Given the description of an element on the screen output the (x, y) to click on. 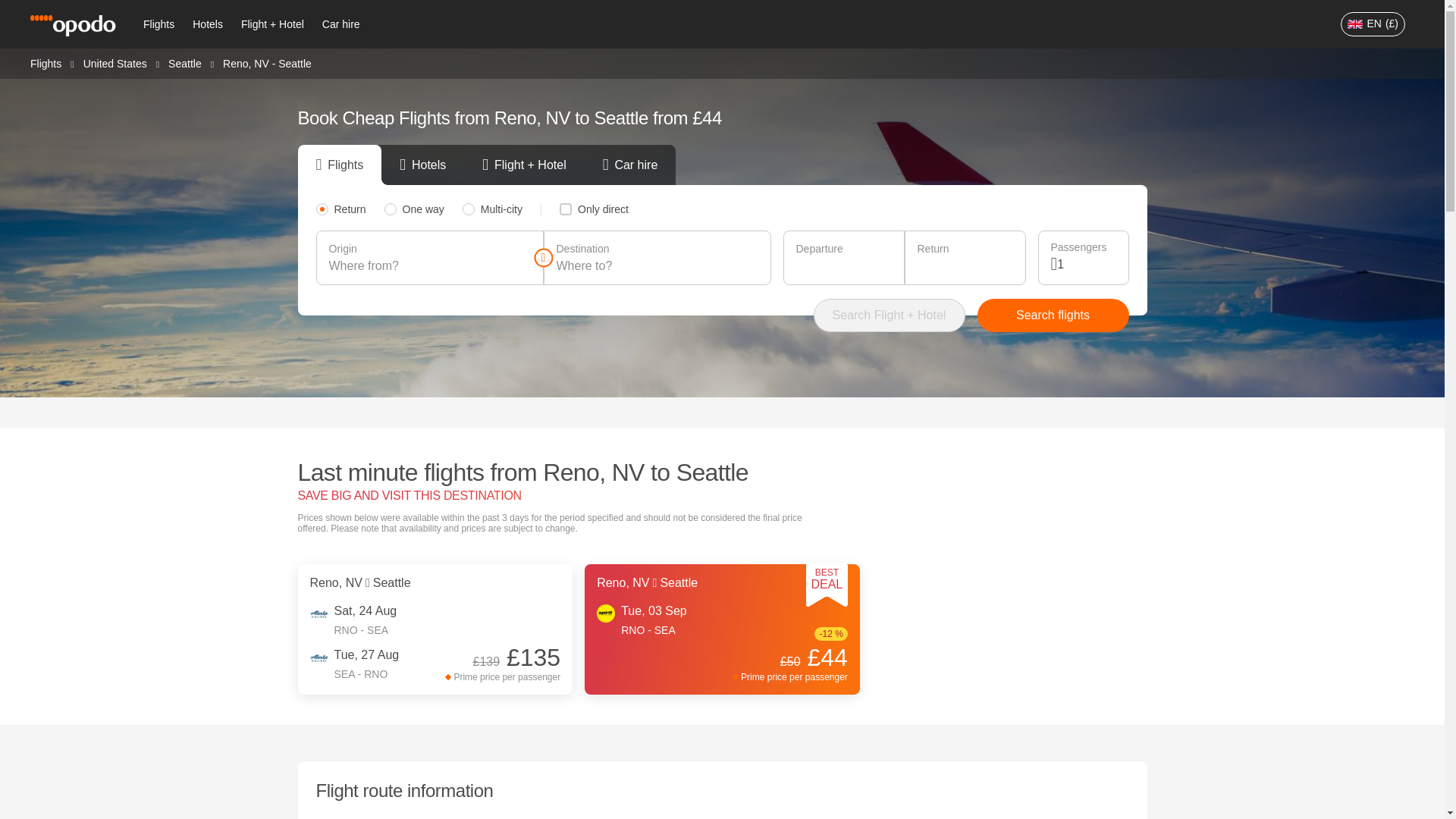
Flights (45, 62)
Flights (158, 24)
Reno, NV - Seattle (266, 63)
United States (114, 62)
Seattle (185, 62)
1 (1086, 263)
Hotels (207, 24)
Car hire (341, 24)
Search flights (1052, 315)
